Given the description of an element on the screen output the (x, y) to click on. 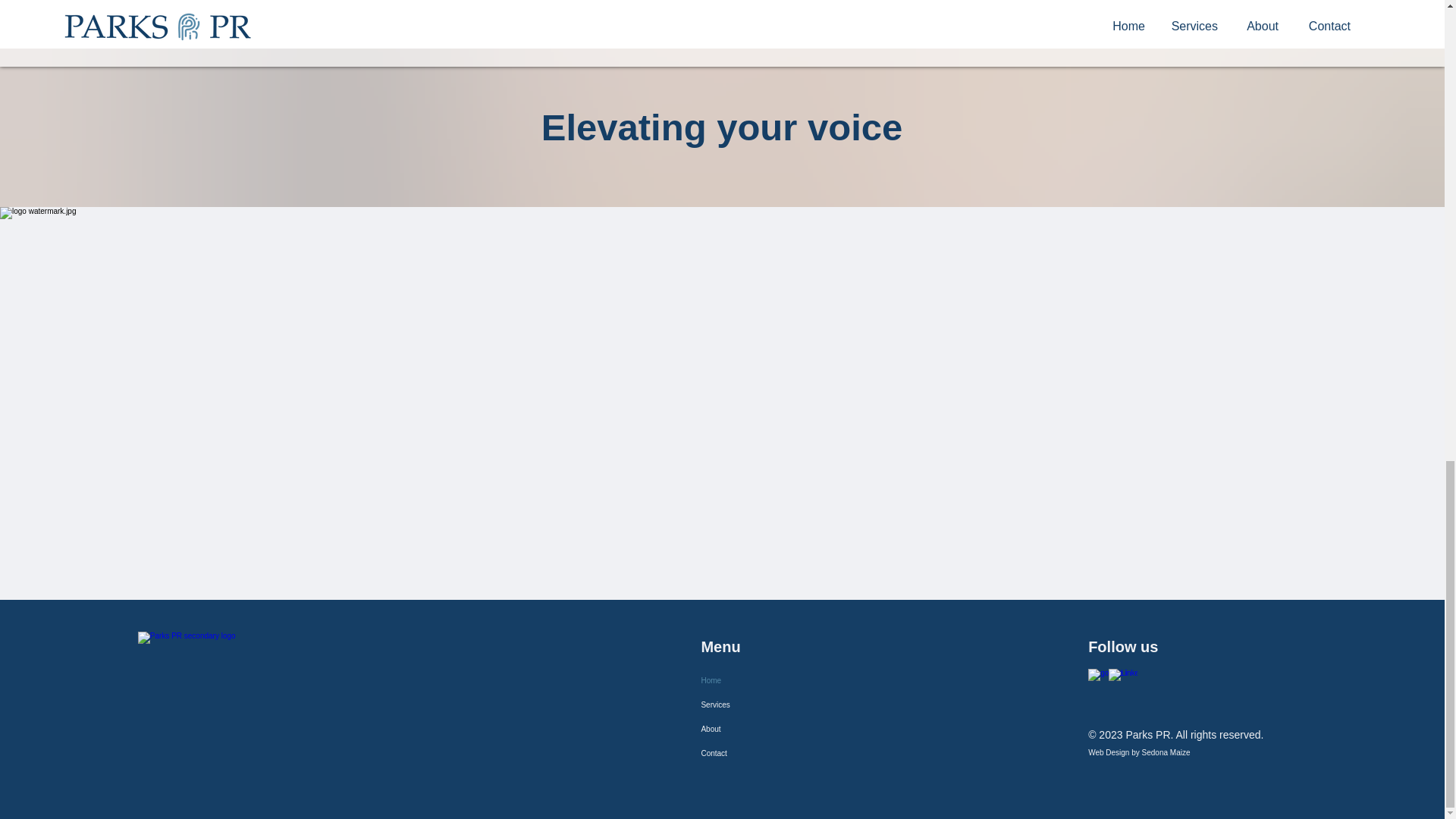
Home (771, 680)
Sedona Maize (1166, 752)
Contact (771, 753)
Services (771, 704)
About (771, 729)
